Given the description of an element on the screen output the (x, y) to click on. 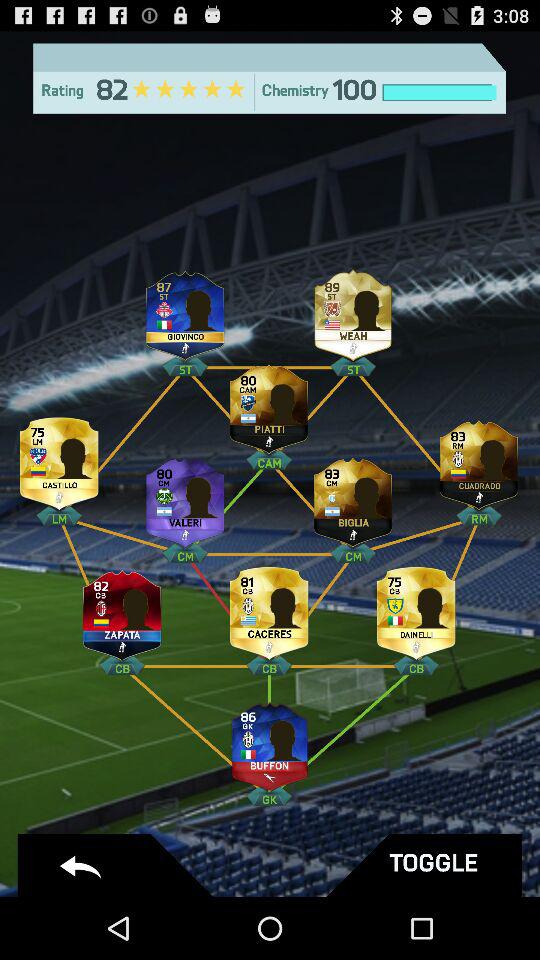
go back (118, 865)
